Given the description of an element on the screen output the (x, y) to click on. 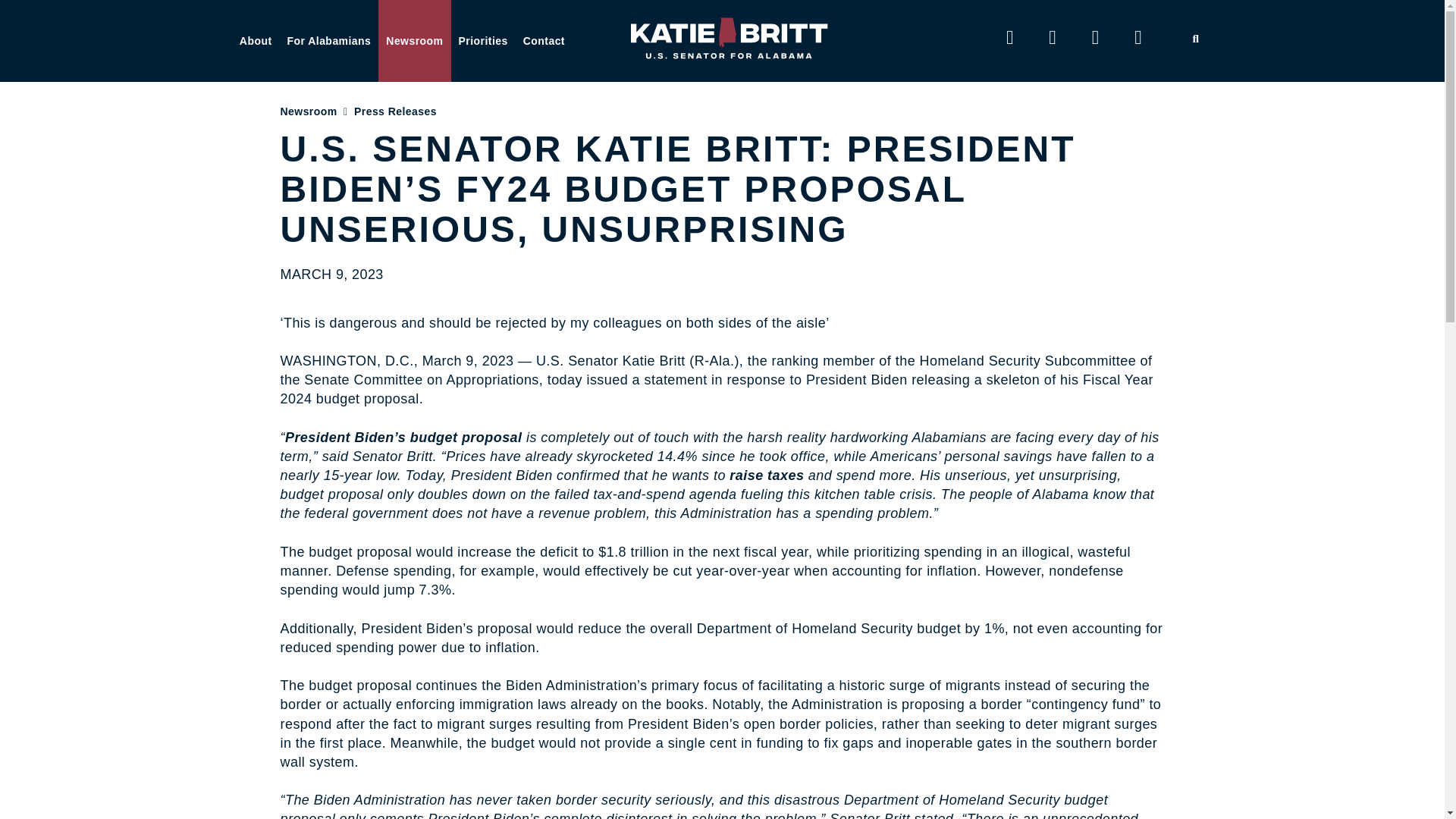
For Alabamians (328, 40)
